Given the description of an element on the screen output the (x, y) to click on. 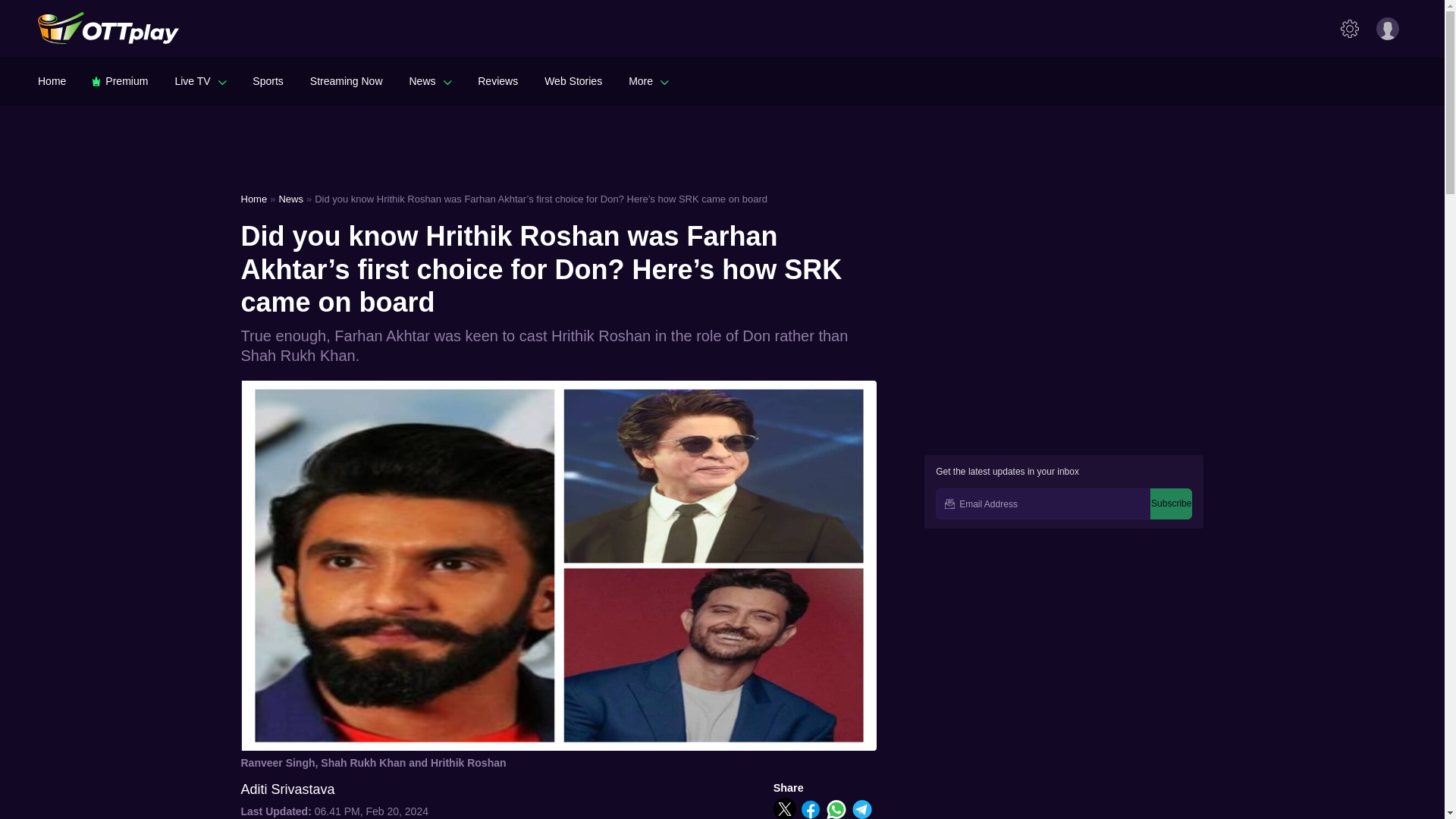
Web Stories (573, 80)
Live TV (199, 80)
News (430, 80)
Premium (120, 80)
Streaming Now (346, 80)
